Given the description of an element on the screen output the (x, y) to click on. 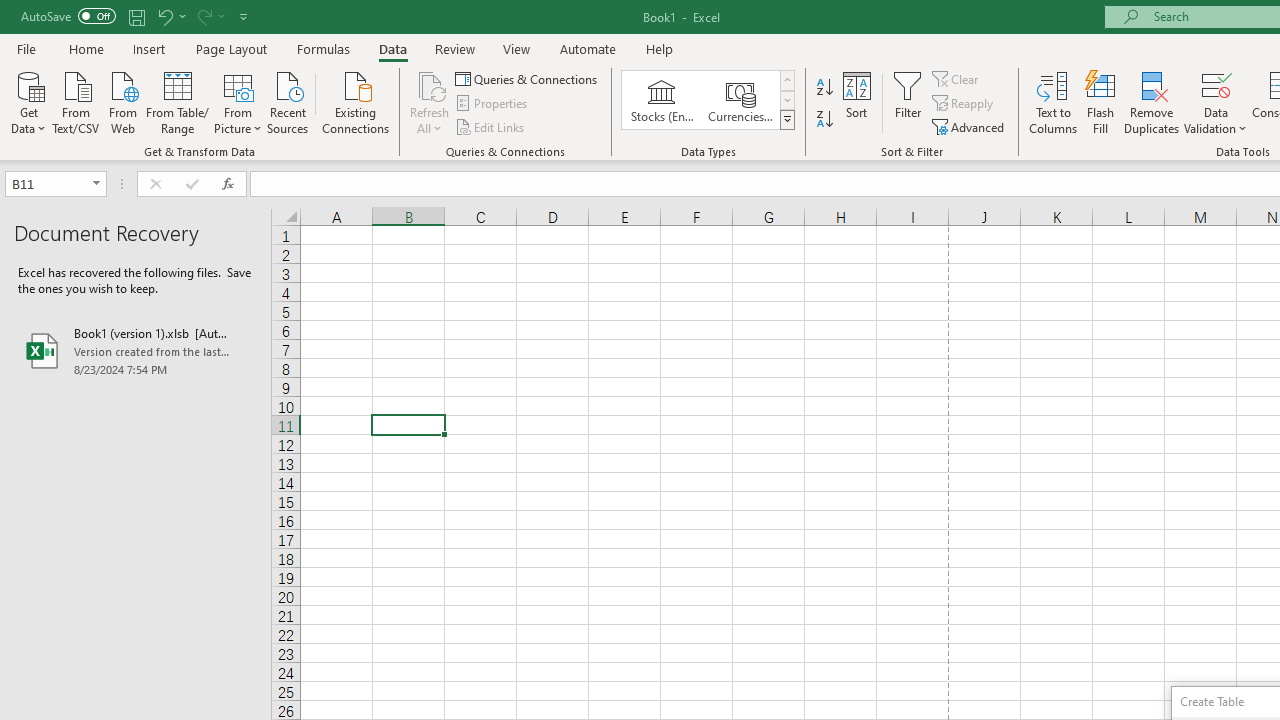
From Picture (238, 101)
